Given the description of an element on the screen output the (x, y) to click on. 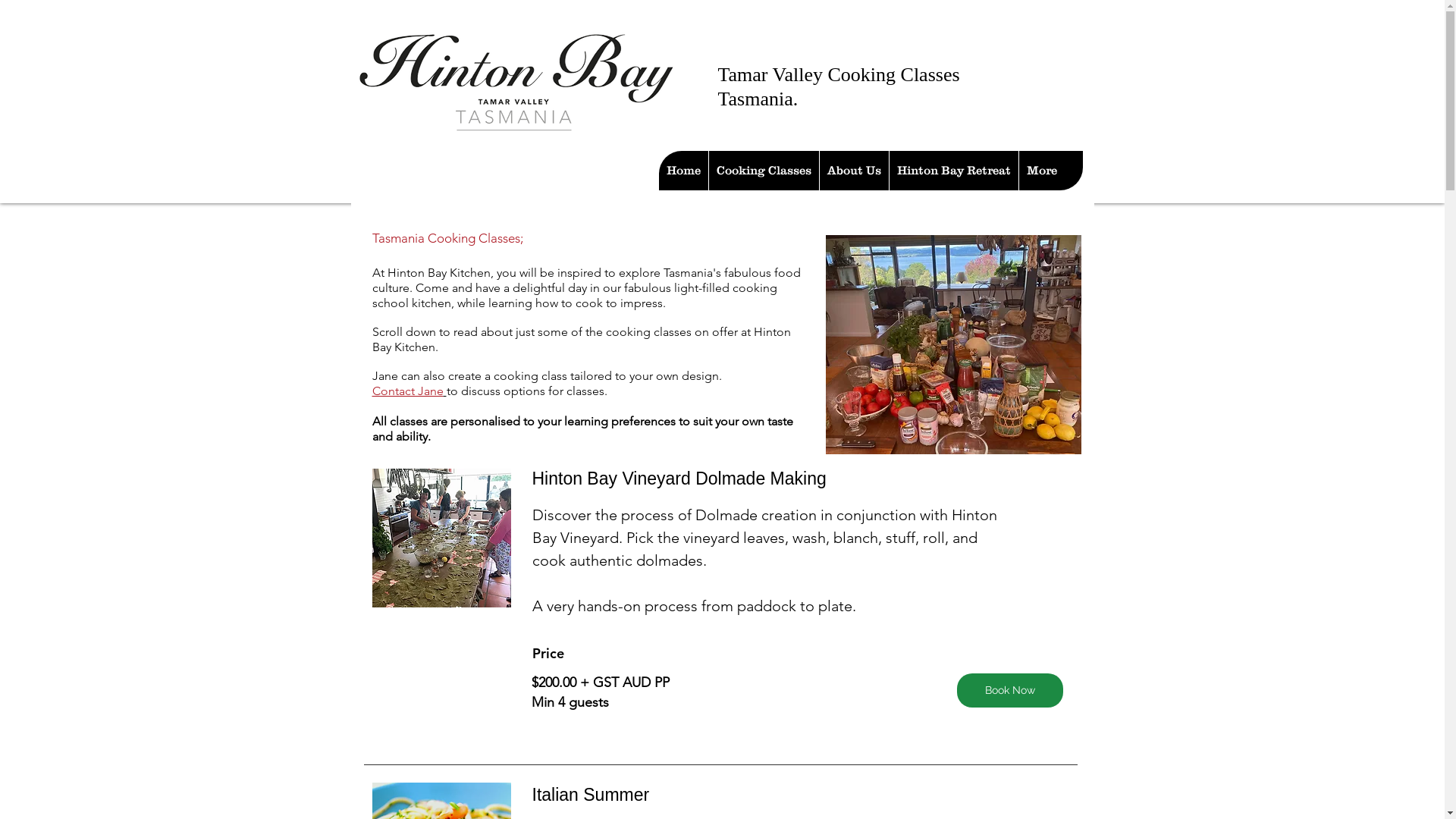
Hinton Bay Retreat Element type: text (953, 170)
About Us Element type: text (853, 170)
Home Element type: text (682, 170)
Contact Jane Element type: text (408, 390)
Book Now Element type: text (1010, 690)
Cooking Classes Element type: text (763, 170)
